Given the description of an element on the screen output the (x, y) to click on. 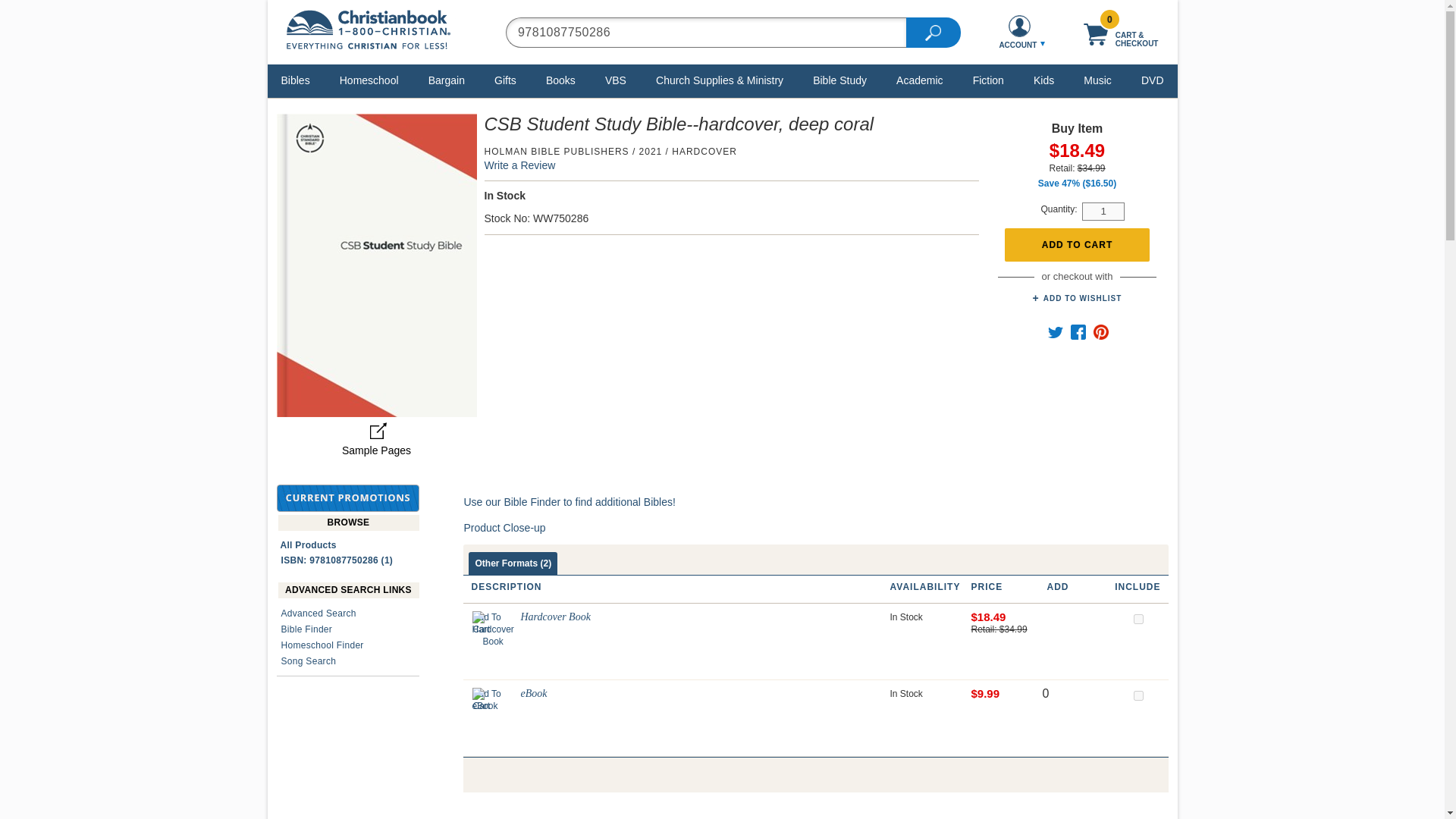
9781087750286 (705, 31)
SEARCH (932, 31)
Add To Wishlist (1077, 298)
VBS (615, 79)
Place in Bookbag (1077, 245)
Kids (1043, 79)
118810EB (1137, 696)
ACCOUNT (1019, 32)
Homeschool (369, 79)
750286 (1137, 619)
Books (560, 79)
Hardcover Book (492, 628)
Academic (919, 79)
Gifts (505, 79)
Write a Review (518, 164)
